Given the description of an element on the screen output the (x, y) to click on. 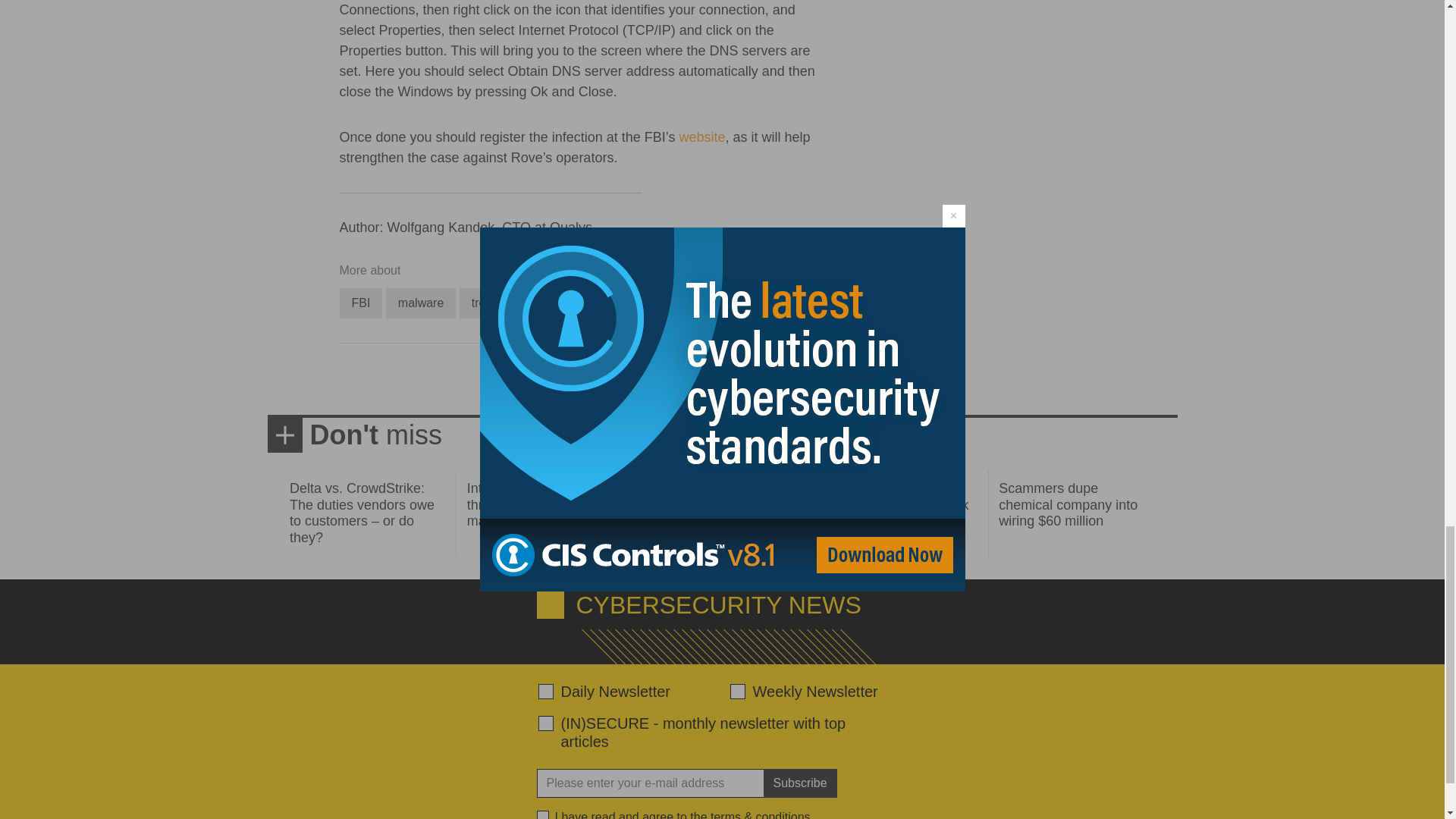
1 (542, 814)
malware (420, 302)
website (701, 136)
Share Detecting the DNS Changer malware on Facebook (560, 379)
malware (420, 302)
520ac2f639 (545, 691)
FBI (360, 302)
Share Detecting the DNS Changer malware on LinkedIn (615, 379)
Share Detecting the DNS Changer malware on Twitter (588, 379)
Share Detecting the DNS Changer malware via E-mail (643, 379)
